Given the description of an element on the screen output the (x, y) to click on. 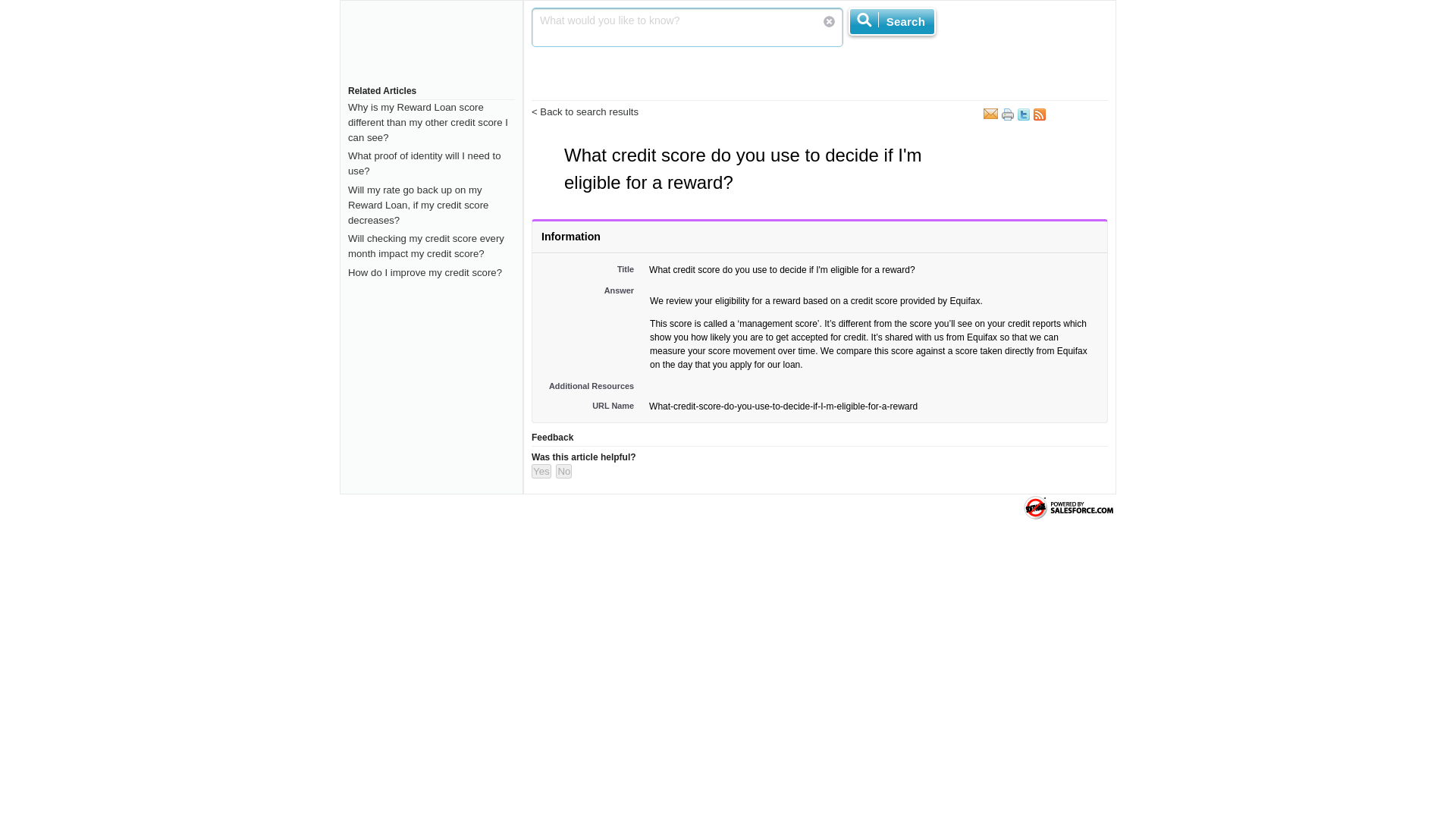
Search (892, 21)
Article (547, 150)
Yes (541, 471)
Email a link to this article (990, 113)
No (564, 471)
What would you like to know? (687, 26)
Search (892, 21)
No (564, 471)
How do I improve my credit score? (424, 272)
Reset Search (829, 21)
Tweet this! (1023, 117)
What proof of identity will I need to use? (423, 162)
